Given the description of an element on the screen output the (x, y) to click on. 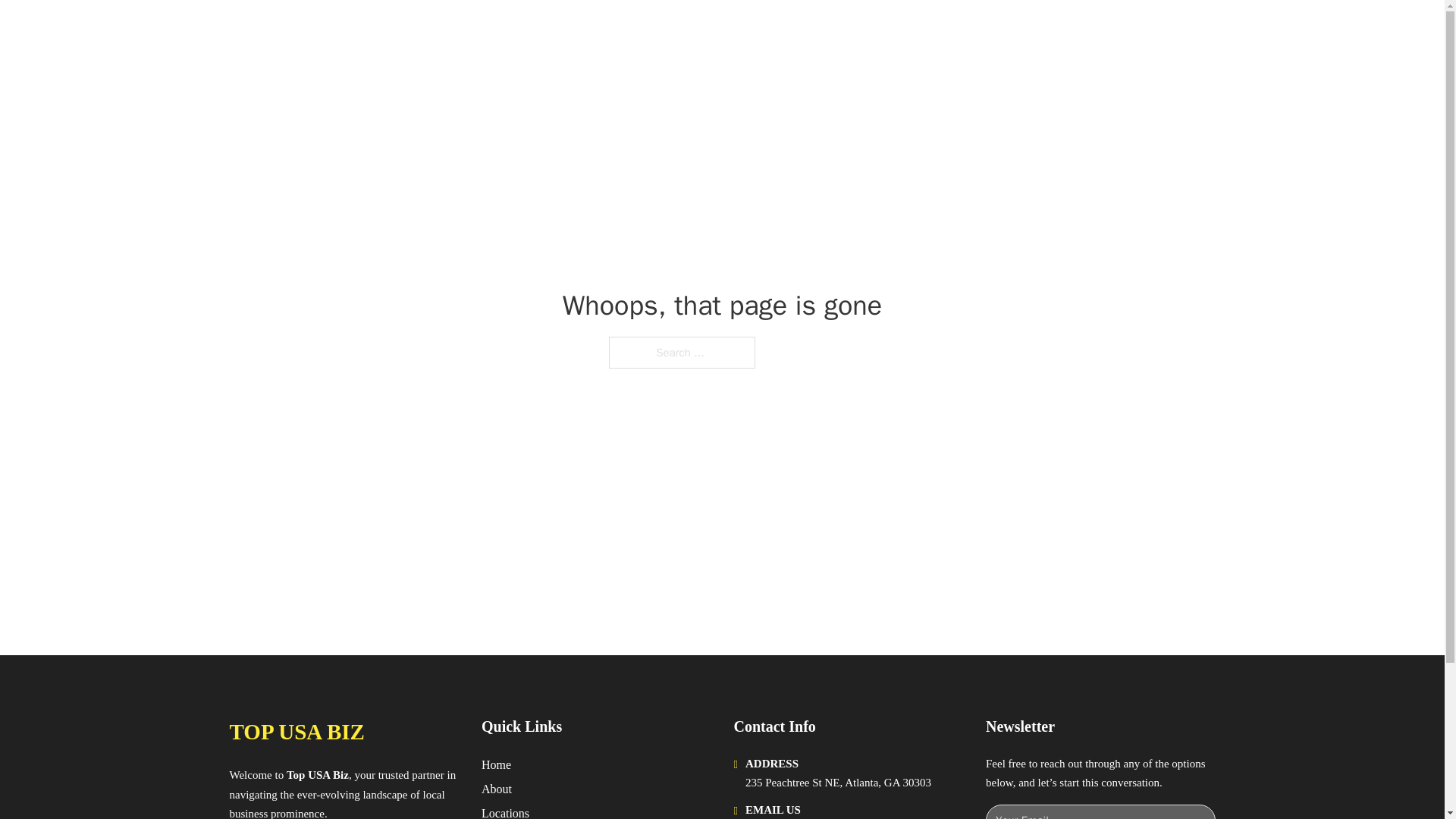
About (496, 788)
HOME (919, 29)
LOCATIONS (990, 29)
Locations (505, 811)
TOP USA BIZ (376, 28)
TOP USA BIZ (296, 732)
Home (496, 764)
